Given the description of an element on the screen output the (x, y) to click on. 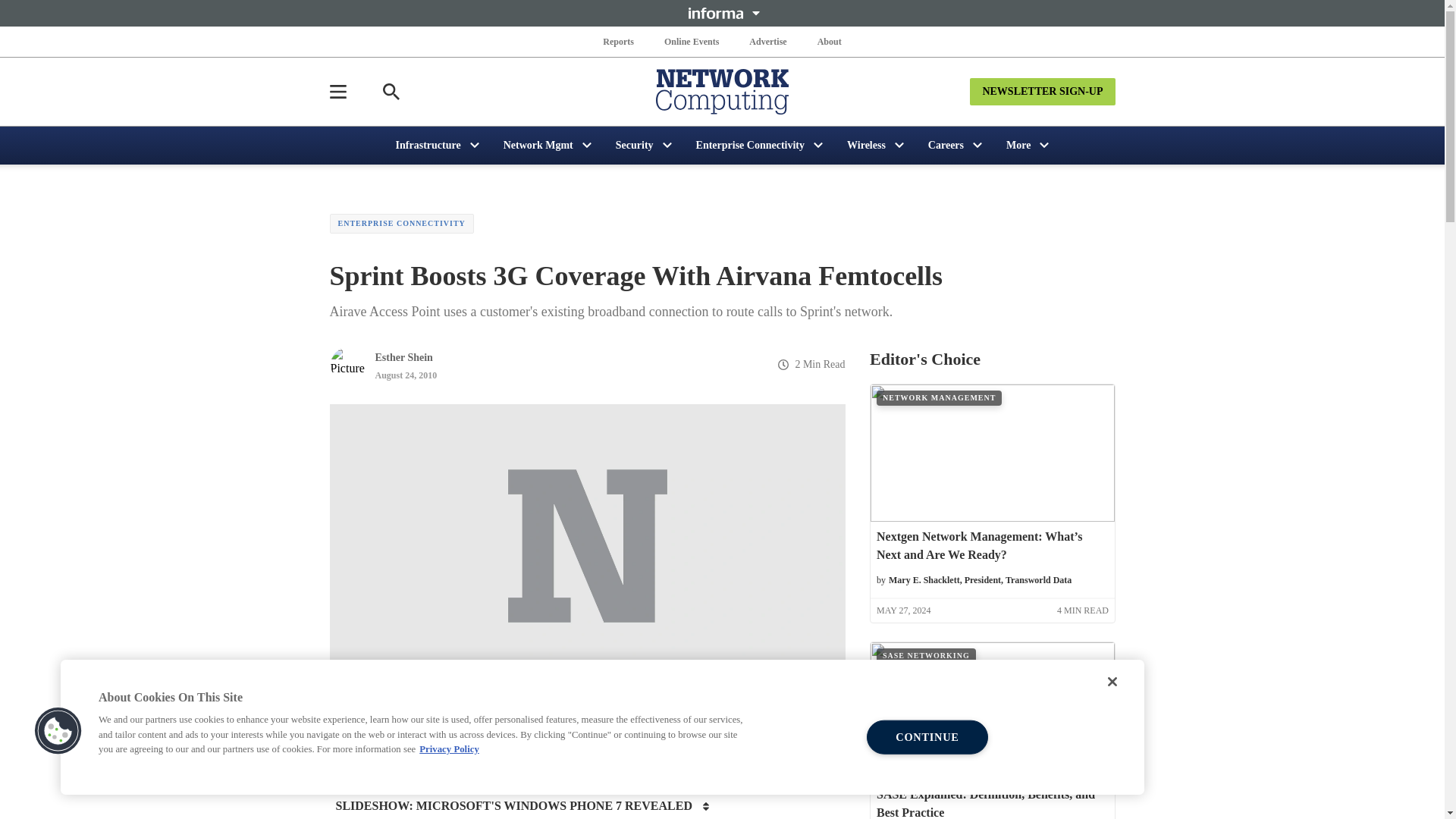
About (828, 41)
Cookies Button (57, 730)
NEWSLETTER SIGN-UP (1042, 90)
Online Events (691, 41)
Picture of Esther Shein (347, 364)
Network Computing Logo (722, 91)
Reports (618, 41)
Advertise (767, 41)
